Given the description of an element on the screen output the (x, y) to click on. 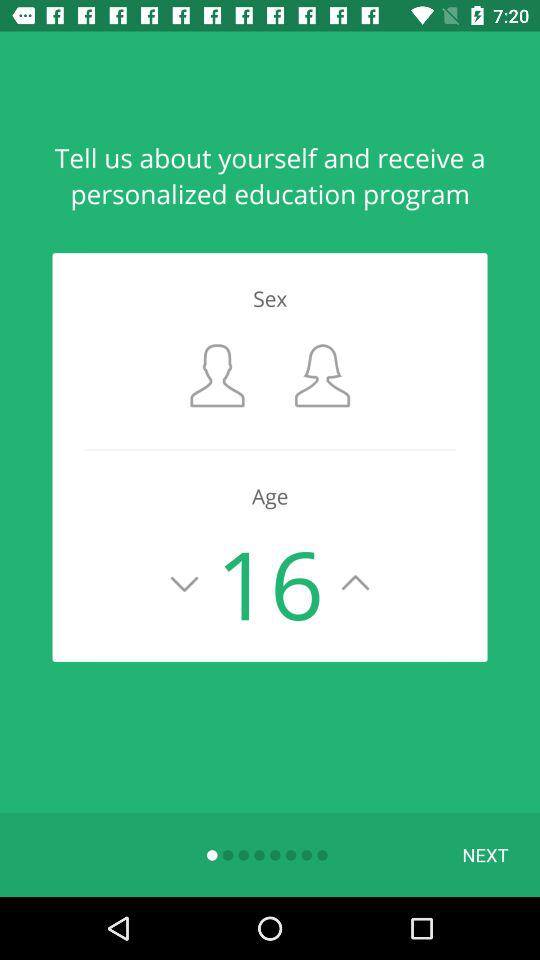
select user sex male/female (217, 375)
